Given the description of an element on the screen output the (x, y) to click on. 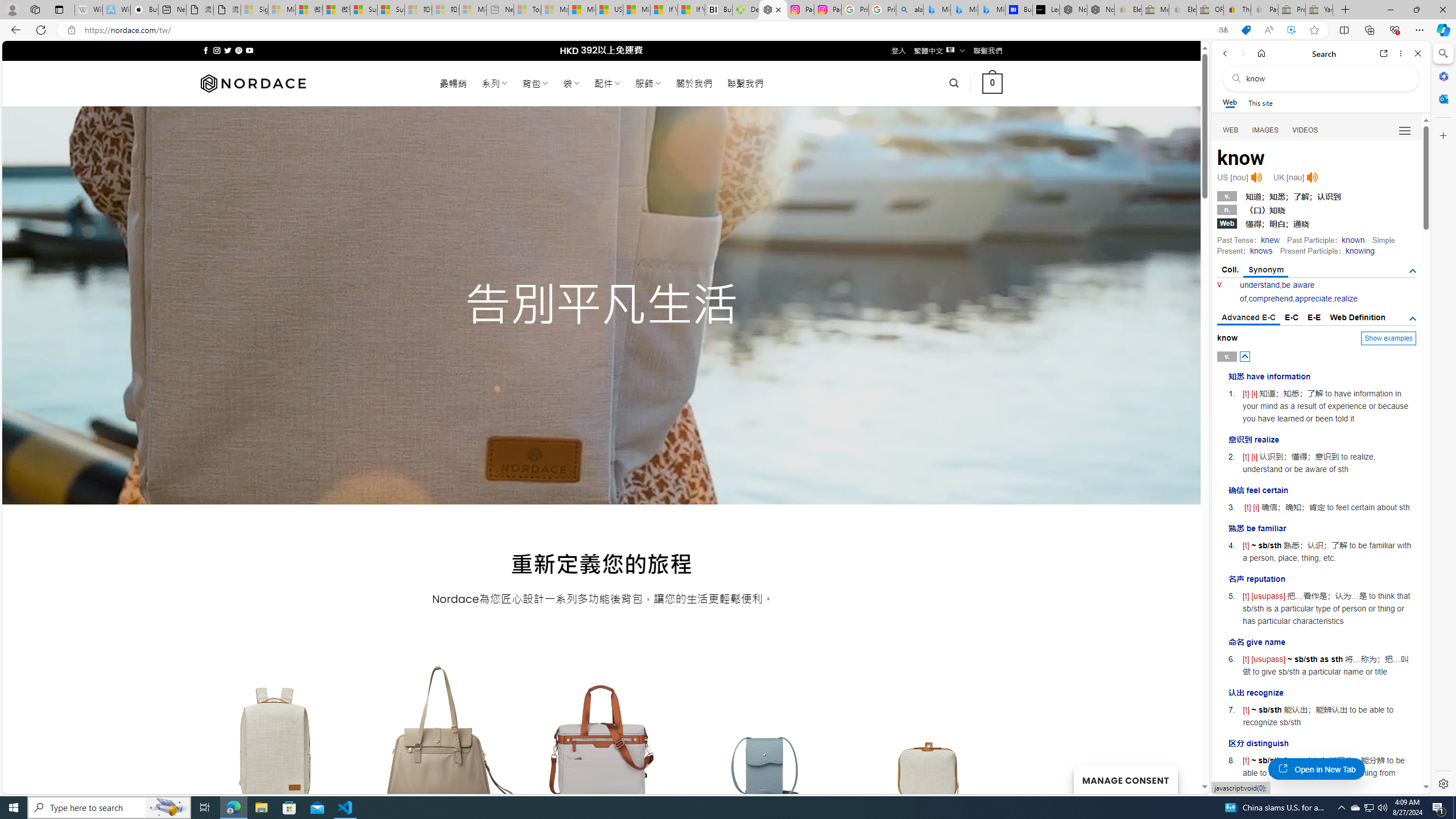
Buy iPad - Apple (144, 9)
Follow on YouTube (249, 50)
Follow on Facebook (205, 50)
alabama high school quarterback dies - Search (909, 9)
E-E (1314, 317)
Microsoft Bing Travel - Shangri-La Hotel Bangkok (991, 9)
knows (1260, 250)
